Given the description of an element on the screen output the (x, y) to click on. 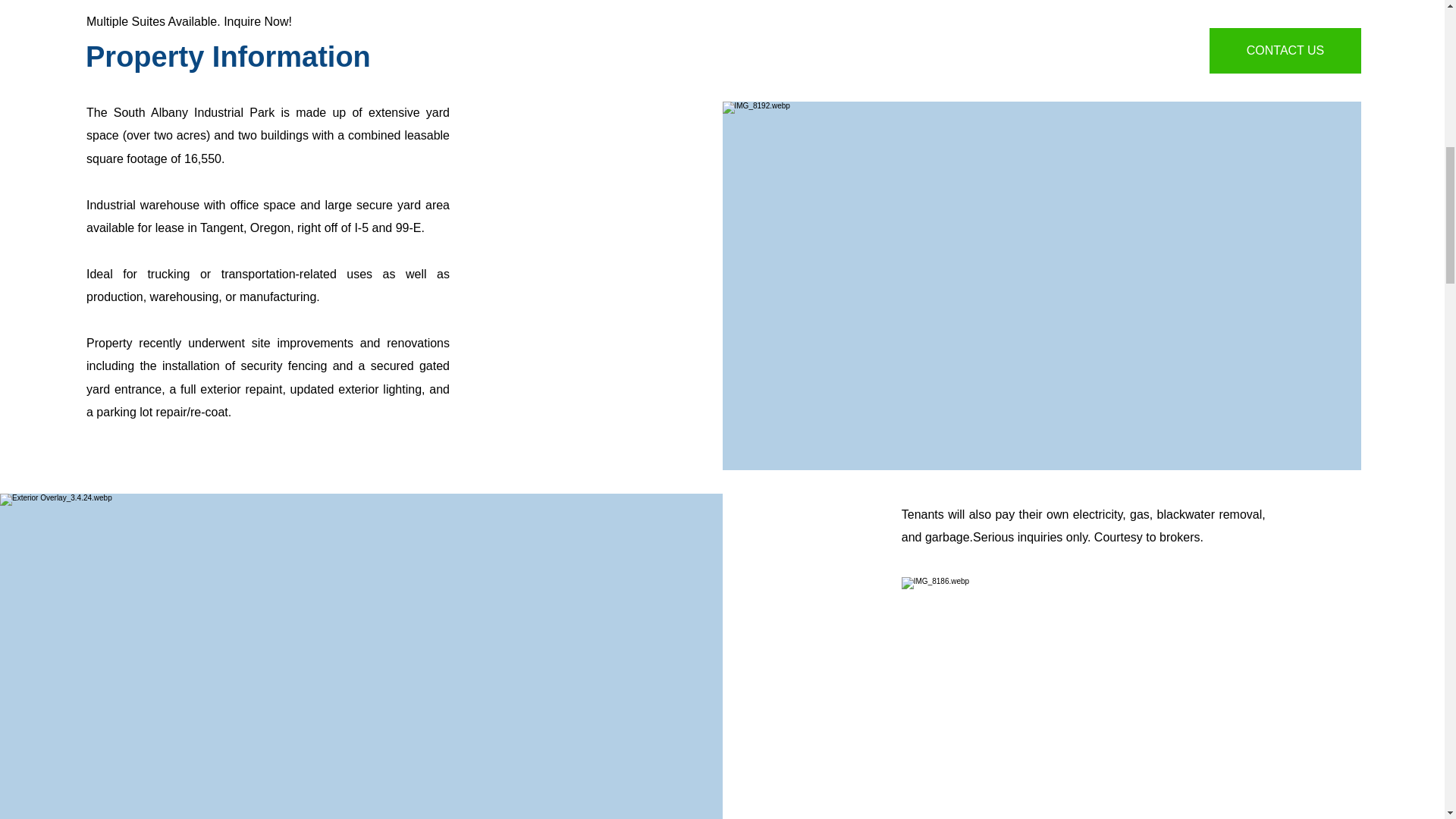
CONTACT US (1285, 50)
